Given the description of an element on the screen output the (x, y) to click on. 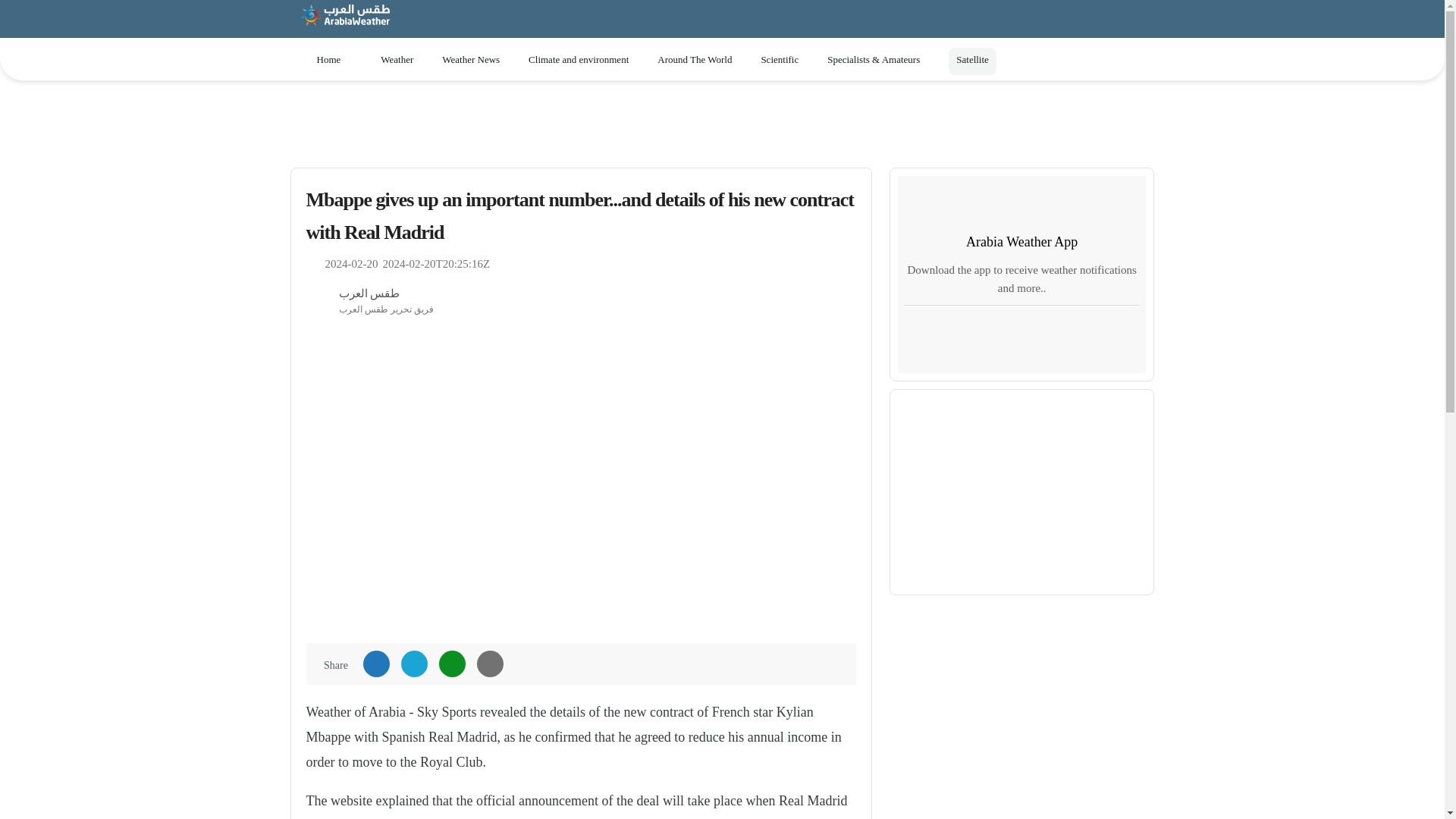
Around The World (701, 59)
Weather (404, 59)
Climate and environment (585, 59)
ArabiaWeather (343, 21)
Climate and environment (585, 59)
Weather (404, 59)
Home (327, 59)
Home (327, 59)
Weather News (477, 59)
Scientific (786, 59)
